Given the description of an element on the screen output the (x, y) to click on. 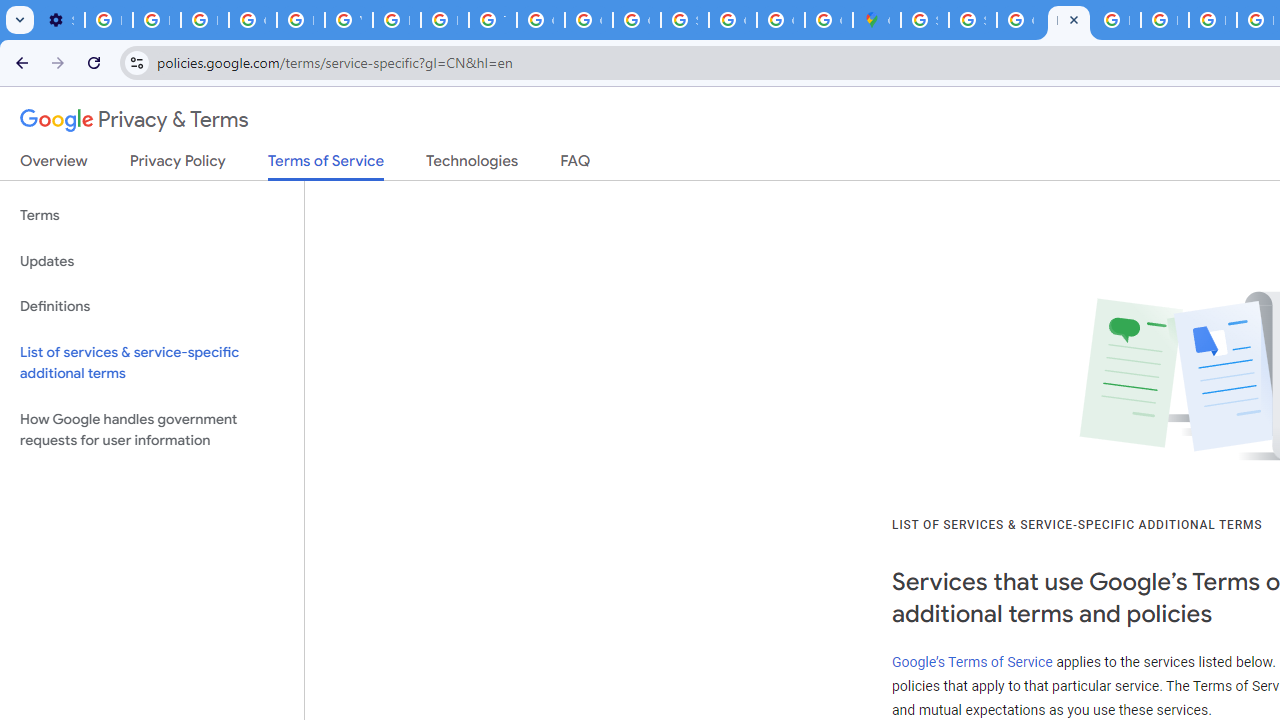
YouTube (348, 20)
Sign in - Google Accounts (972, 20)
